Given the description of an element on the screen output the (x, y) to click on. 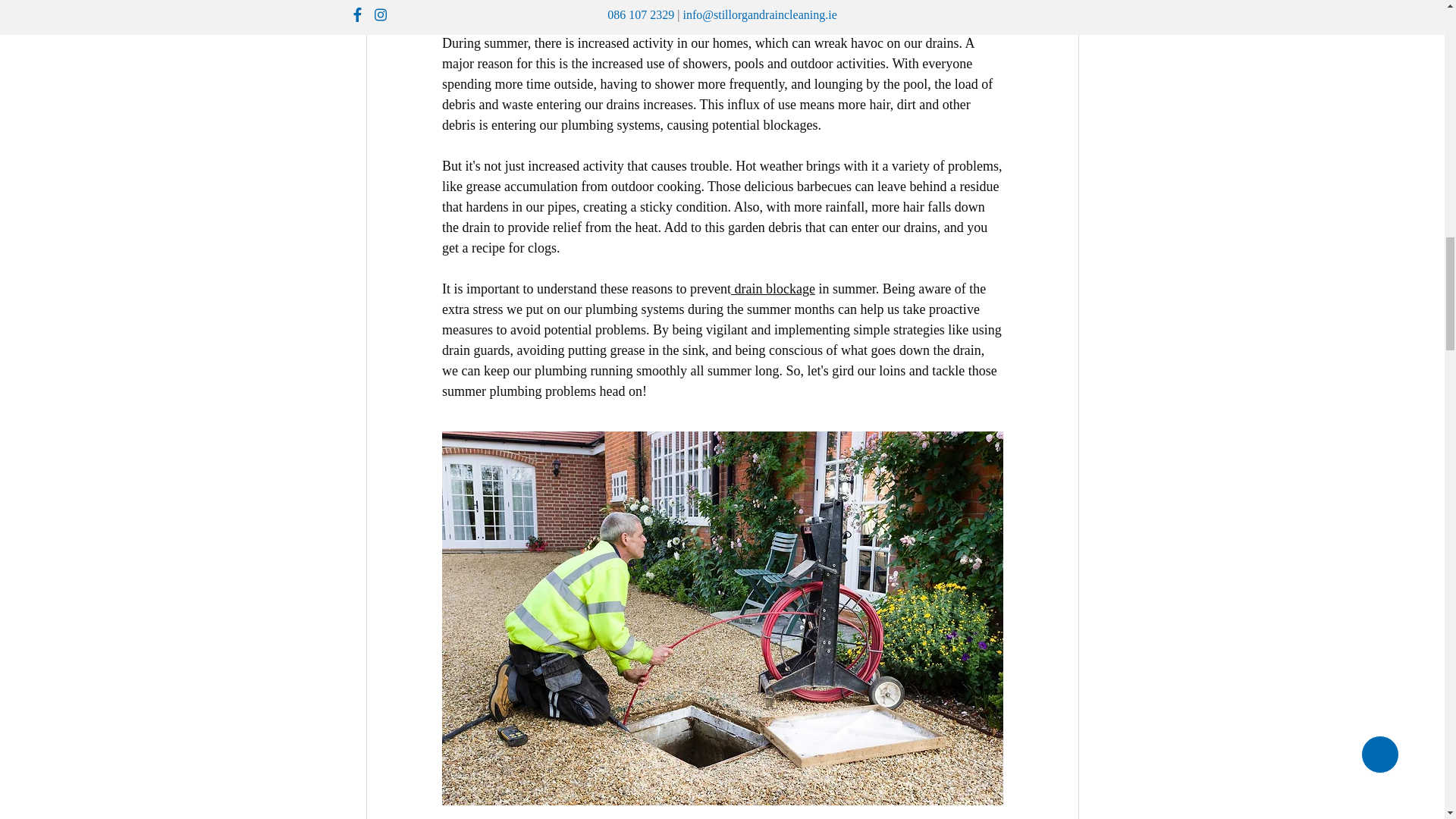
 drain blockage (771, 288)
